Given the description of an element on the screen output the (x, y) to click on. 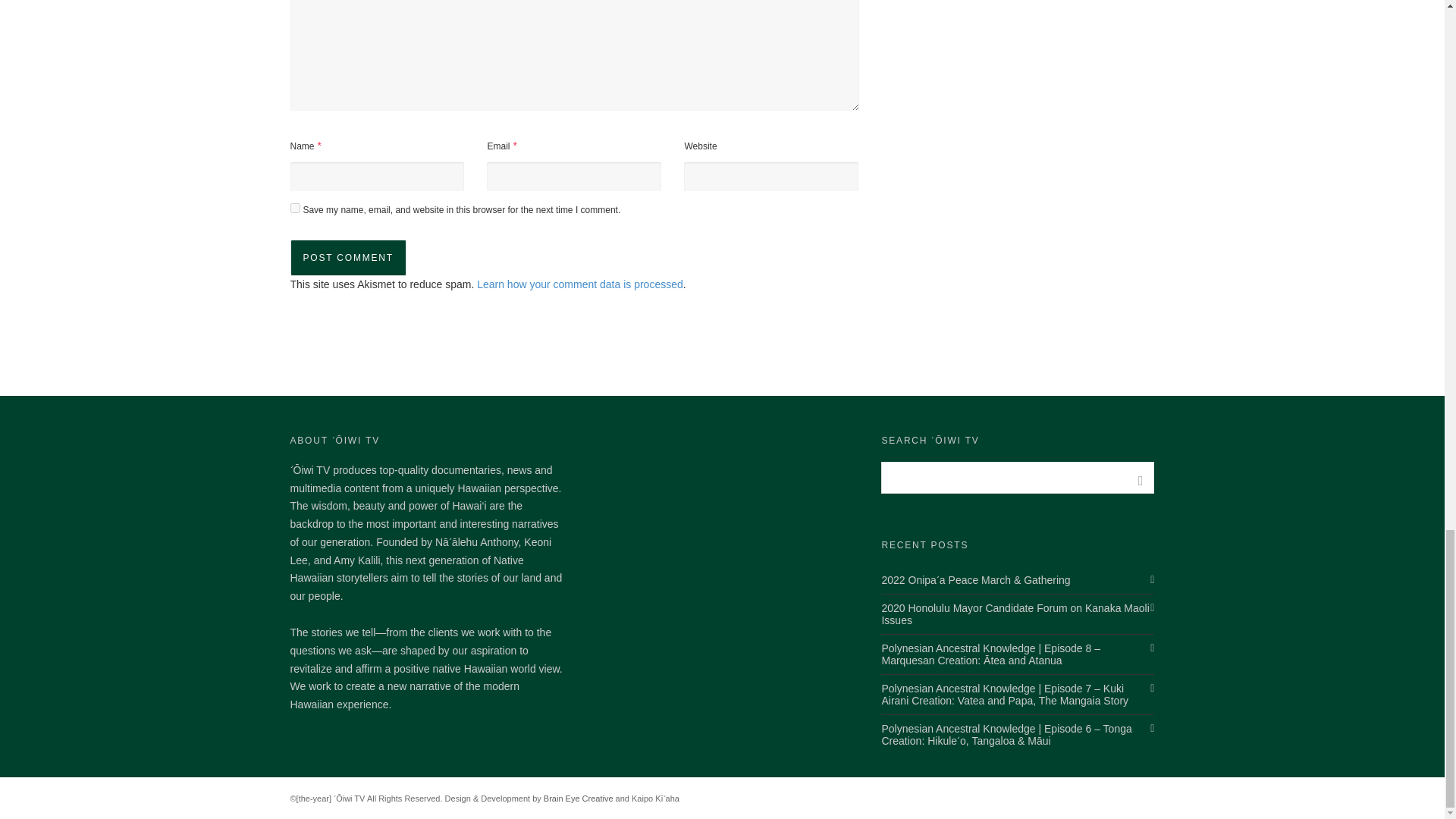
yes (294, 207)
Post comment (347, 257)
